Given the description of an element on the screen output the (x, y) to click on. 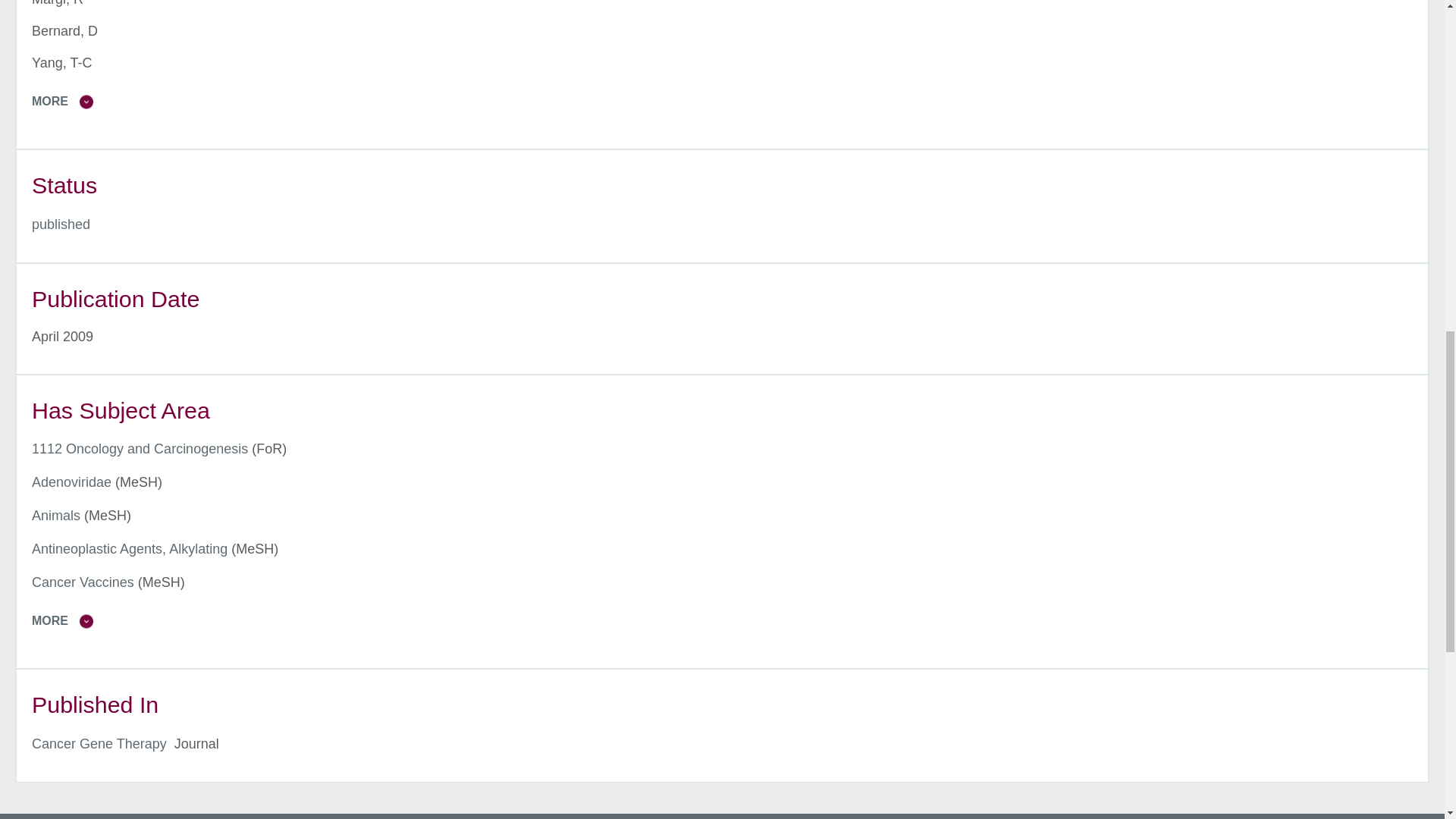
show more content (730, 101)
concept name (139, 448)
name (61, 224)
concept name (72, 482)
concept name (56, 515)
